Given the description of an element on the screen output the (x, y) to click on. 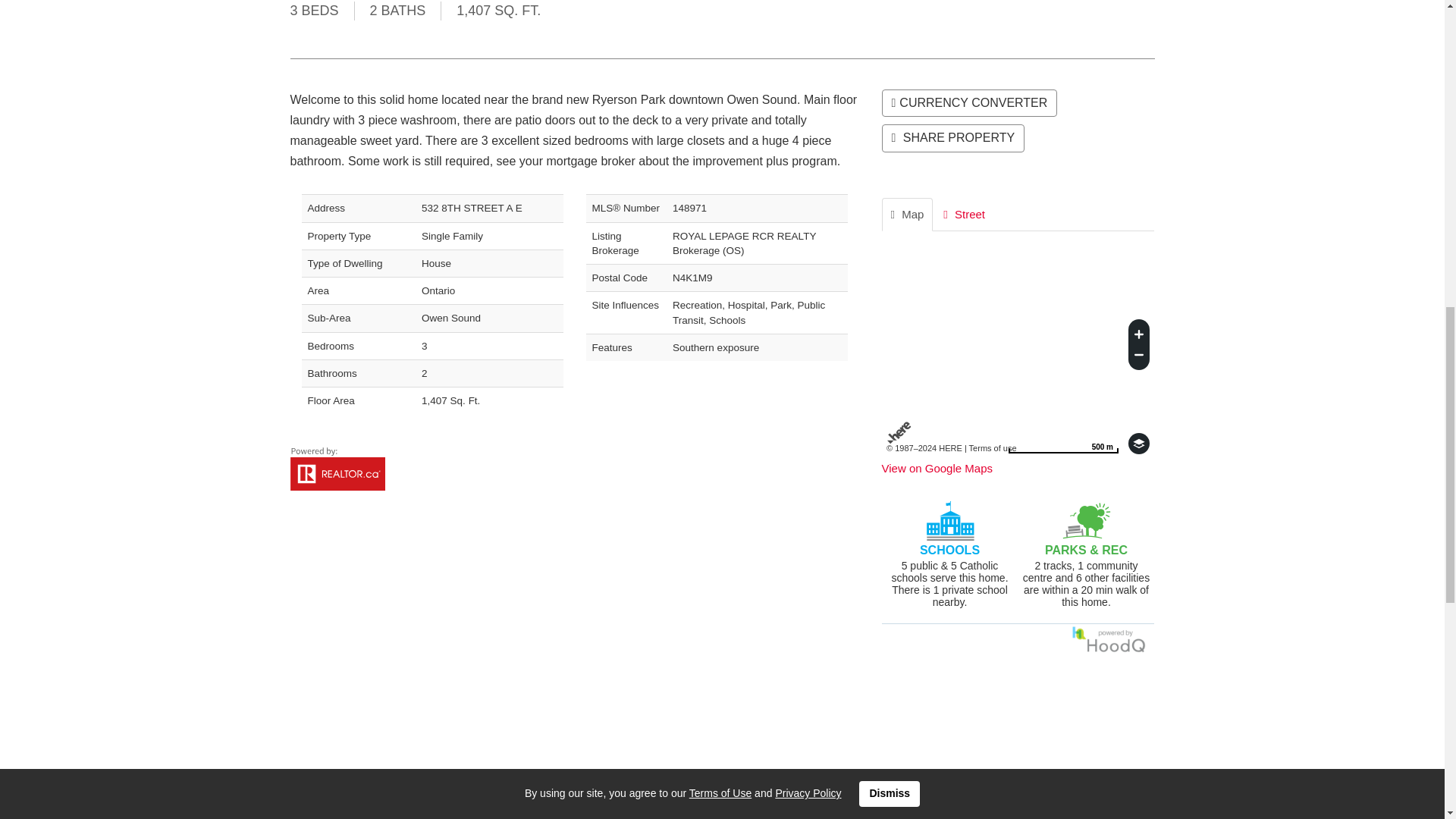
Choose view (1139, 443)
Terms of use (992, 447)
Map (906, 214)
Street (1063, 443)
Walk Score (964, 214)
CURRENCY CONVERTER (1017, 747)
Change to miles (968, 103)
View on Google Maps (1063, 443)
SHARE PROPERTY (935, 468)
